Given the description of an element on the screen output the (x, y) to click on. 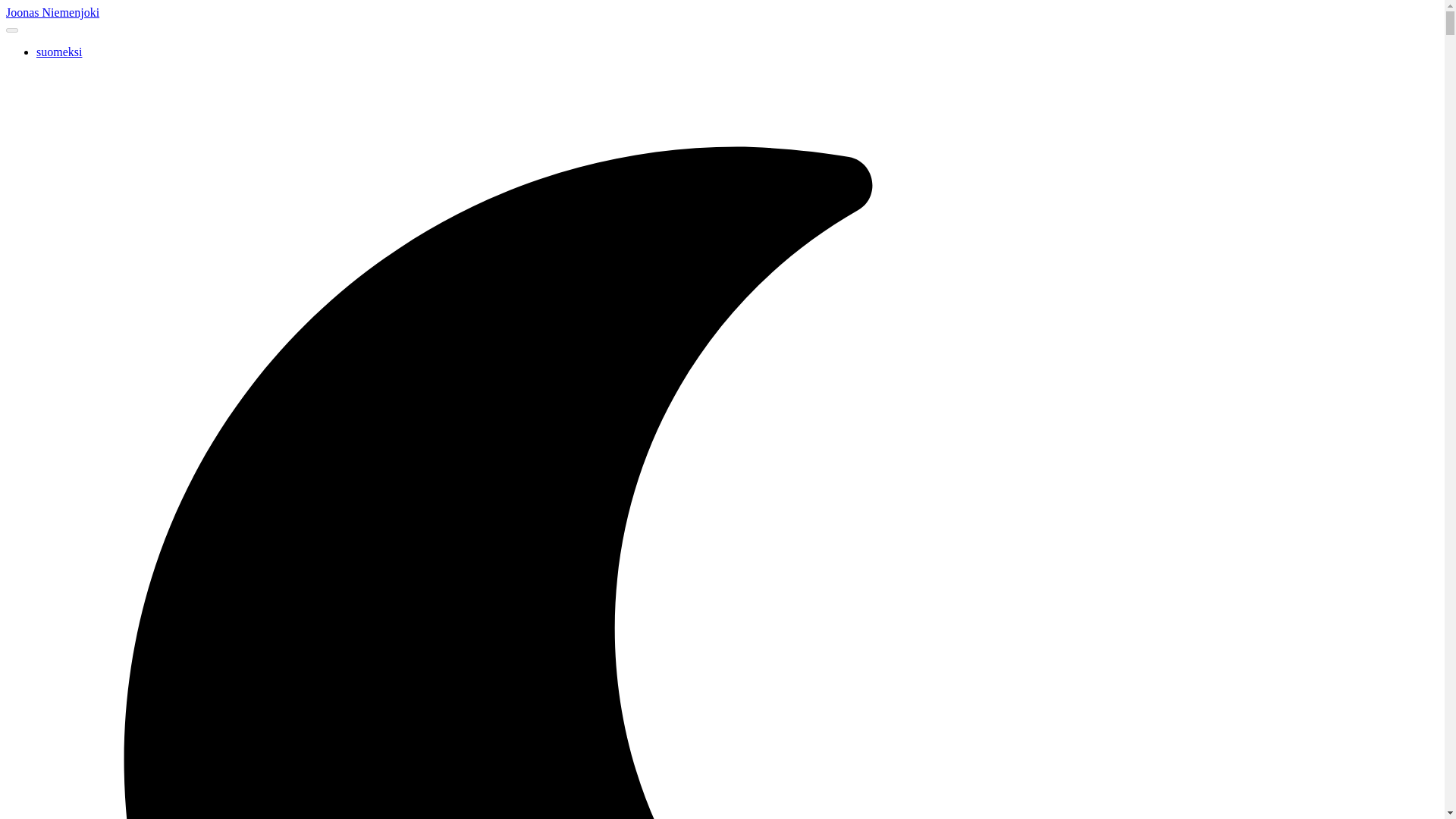
Joonas Niemenjoki (52, 11)
suomeksi (58, 51)
